Given the description of an element on the screen output the (x, y) to click on. 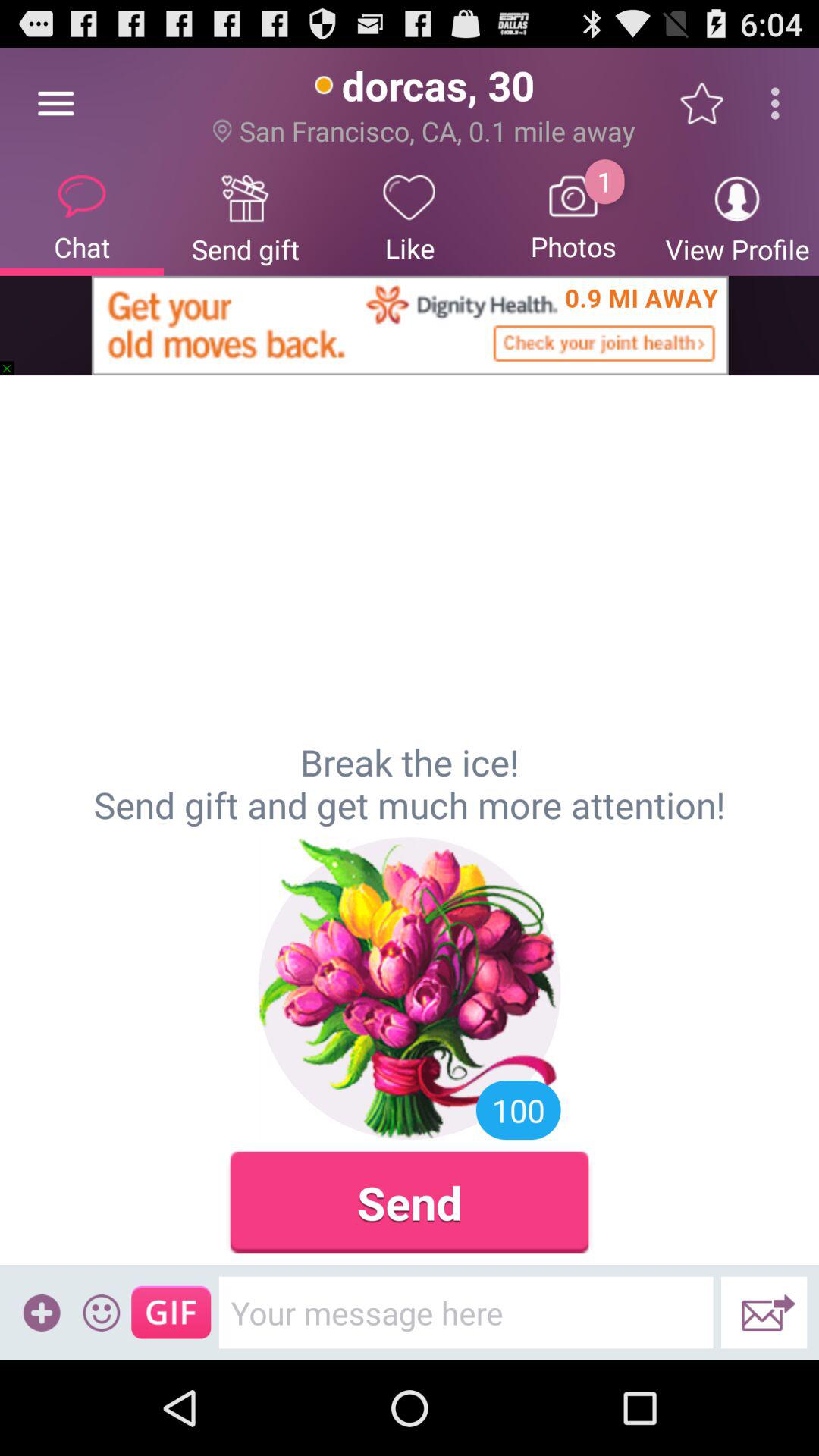
choose icon above view profile item (779, 103)
